Given the description of an element on the screen output the (x, y) to click on. 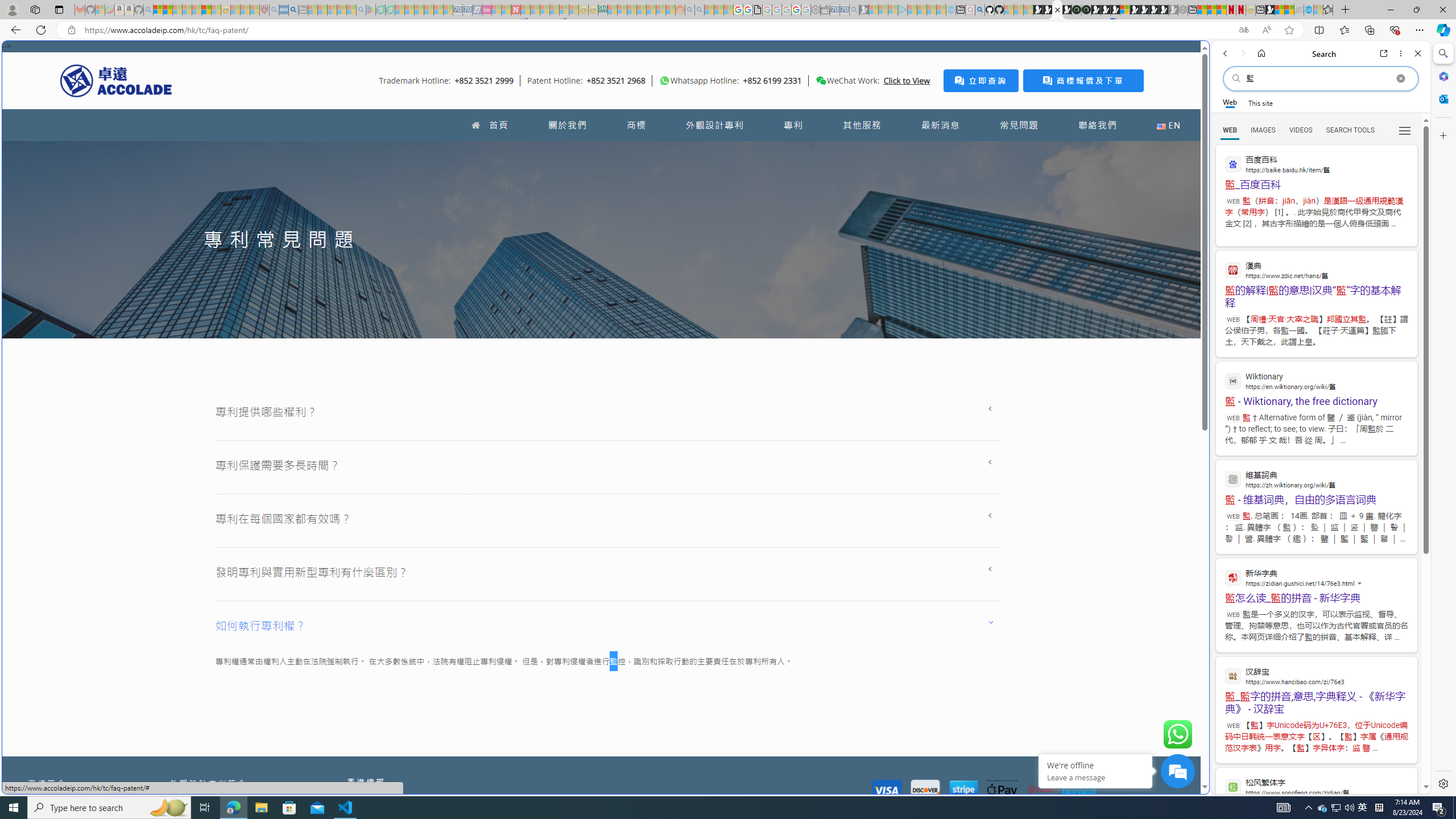
github - Search (979, 9)
